Given the description of an element on the screen output the (x, y) to click on. 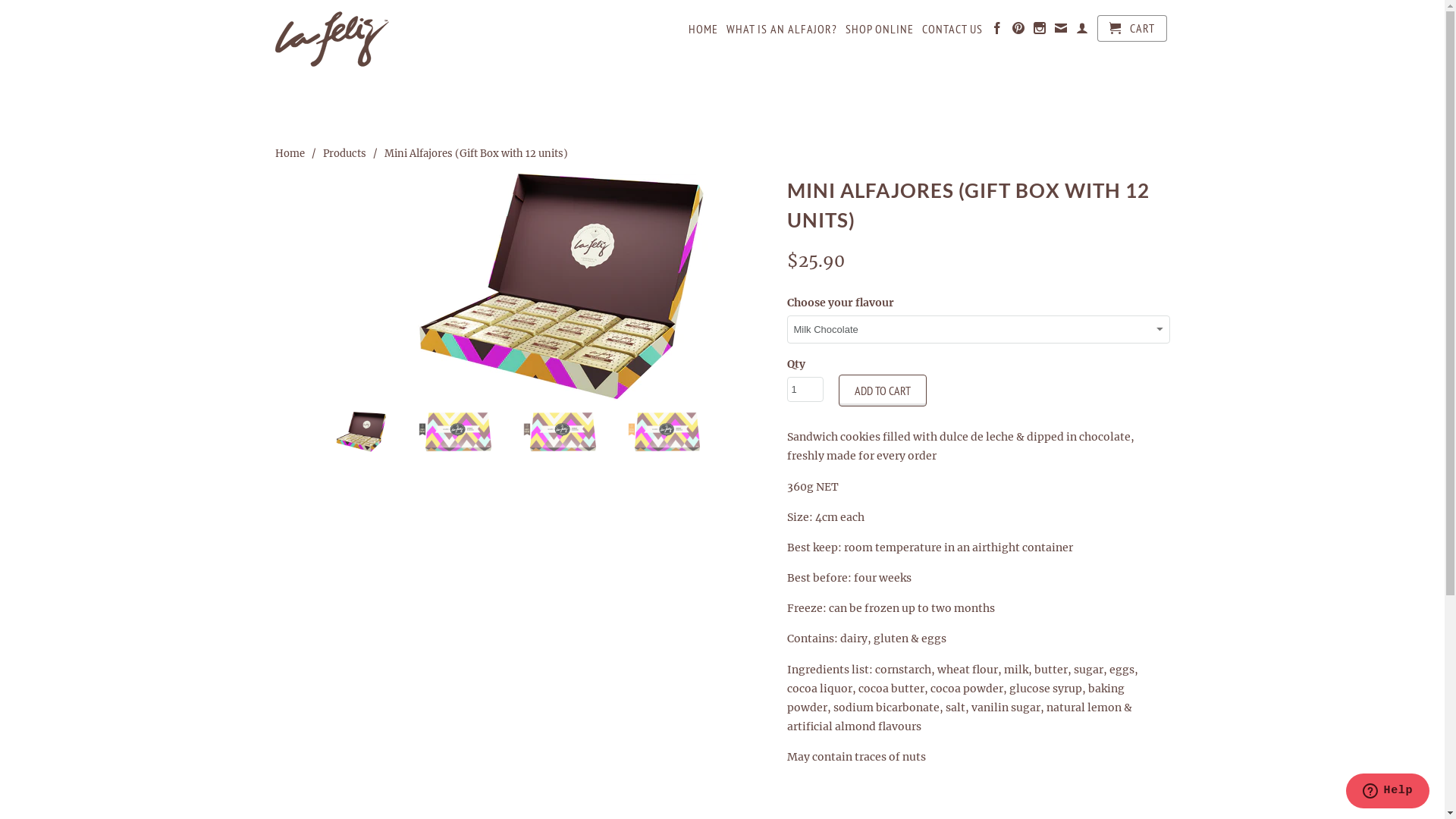
Email La Feliz Pty Ltd Element type: hover (1060, 30)
La Feliz Pty Ltd Element type: hover (380, 38)
La Feliz Pty Ltd on Pinterest Element type: hover (1017, 30)
HOME Element type: text (703, 31)
My Account  Element type: hover (1081, 30)
CONTACT US Element type: text (952, 31)
Home Element type: text (289, 153)
La Feliz Pty Ltd on Facebook Element type: hover (996, 30)
WHAT IS AN ALFAJOR? Element type: text (781, 31)
La Feliz Pty Ltd on Instagram Element type: hover (1038, 30)
Opens a widget where you can find more information Element type: hover (1387, 792)
SHOP ONLINE Element type: text (878, 31)
ADD TO CART Element type: text (882, 390)
CART Element type: text (1131, 28)
Products Element type: text (344, 153)
Mini Alfajores (Gift Box with 12 units) Element type: hover (522, 286)
